Given the description of an element on the screen output the (x, y) to click on. 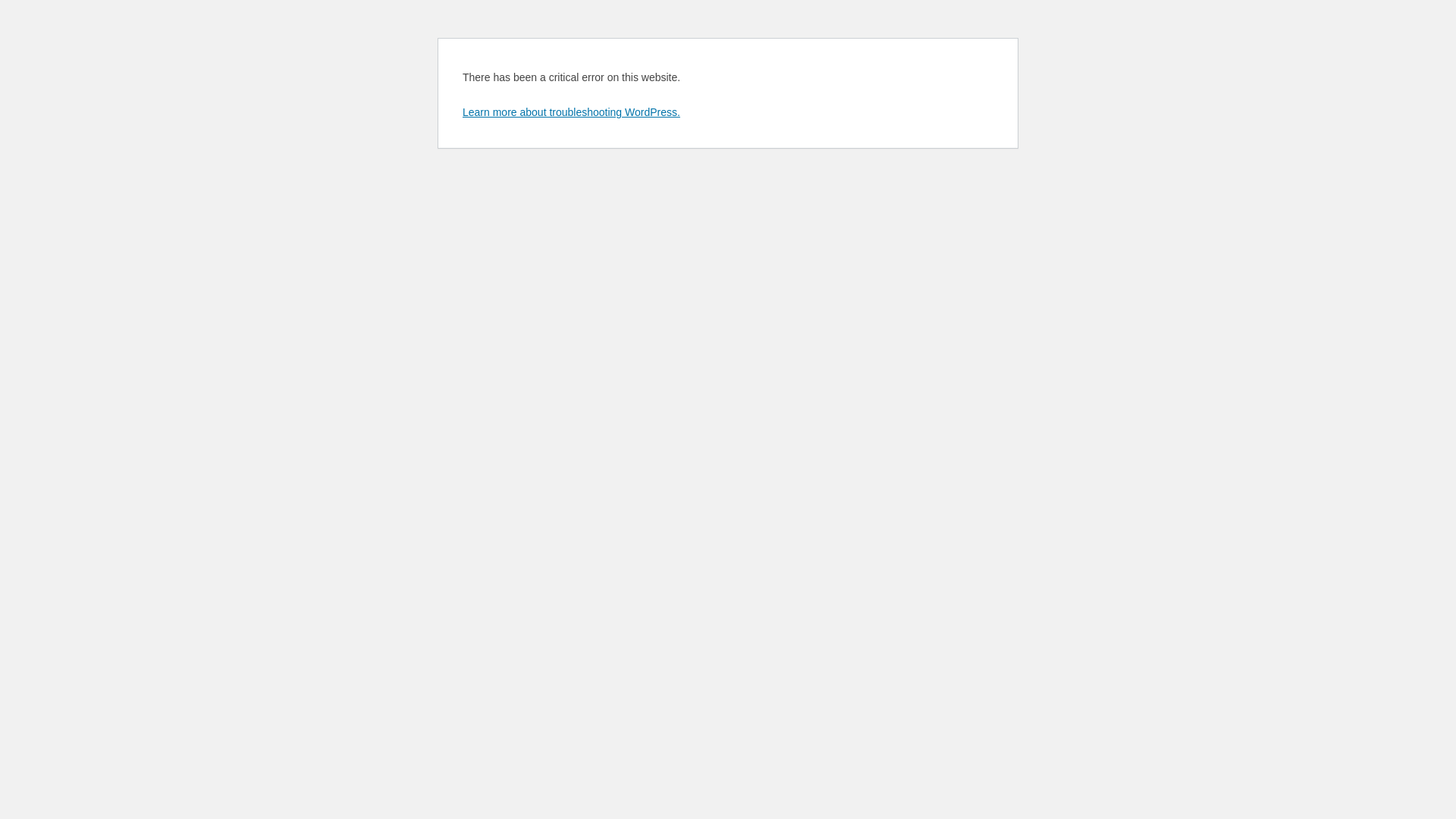
Learn more about troubleshooting WordPress. Element type: text (571, 112)
